Given the description of an element on the screen output the (x, y) to click on. 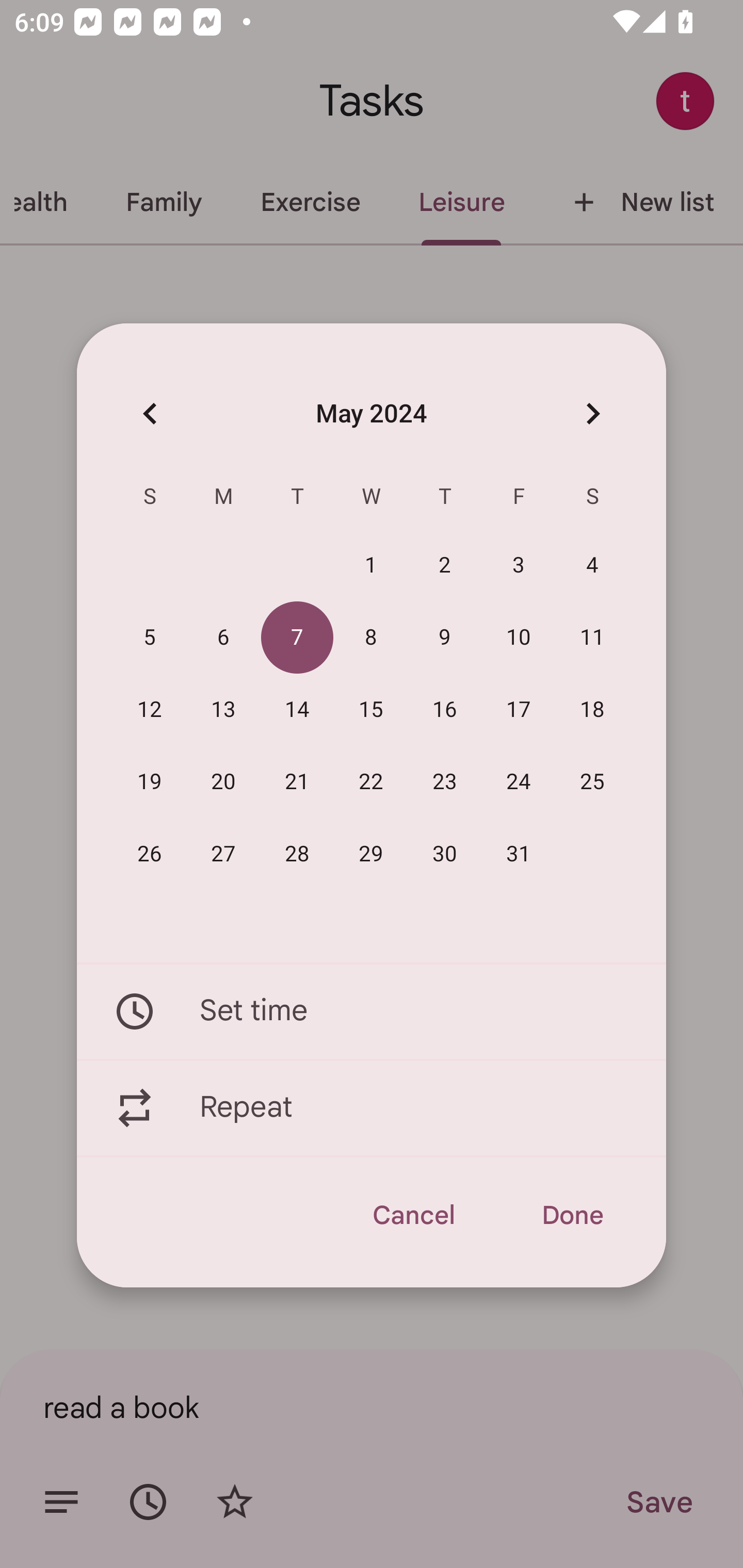
Previous month (149, 413)
Next month (592, 413)
1 01 May 2024 (370, 565)
2 02 May 2024 (444, 565)
3 03 May 2024 (518, 565)
4 04 May 2024 (592, 565)
5 05 May 2024 (149, 638)
6 06 May 2024 (223, 638)
7 07 May 2024 (297, 638)
8 08 May 2024 (370, 638)
9 09 May 2024 (444, 638)
10 10 May 2024 (518, 638)
11 11 May 2024 (592, 638)
12 12 May 2024 (149, 710)
13 13 May 2024 (223, 710)
14 14 May 2024 (297, 710)
15 15 May 2024 (370, 710)
16 16 May 2024 (444, 710)
17 17 May 2024 (518, 710)
18 18 May 2024 (592, 710)
19 19 May 2024 (149, 782)
20 20 May 2024 (223, 782)
21 21 May 2024 (297, 782)
22 22 May 2024 (370, 782)
23 23 May 2024 (444, 782)
24 24 May 2024 (518, 782)
25 25 May 2024 (592, 782)
26 26 May 2024 (149, 854)
27 27 May 2024 (223, 854)
28 28 May 2024 (297, 854)
29 29 May 2024 (370, 854)
30 30 May 2024 (444, 854)
31 31 May 2024 (518, 854)
Set time (371, 1011)
Repeat (371, 1108)
Cancel (412, 1215)
Done (571, 1215)
